Given the description of an element on the screen output the (x, y) to click on. 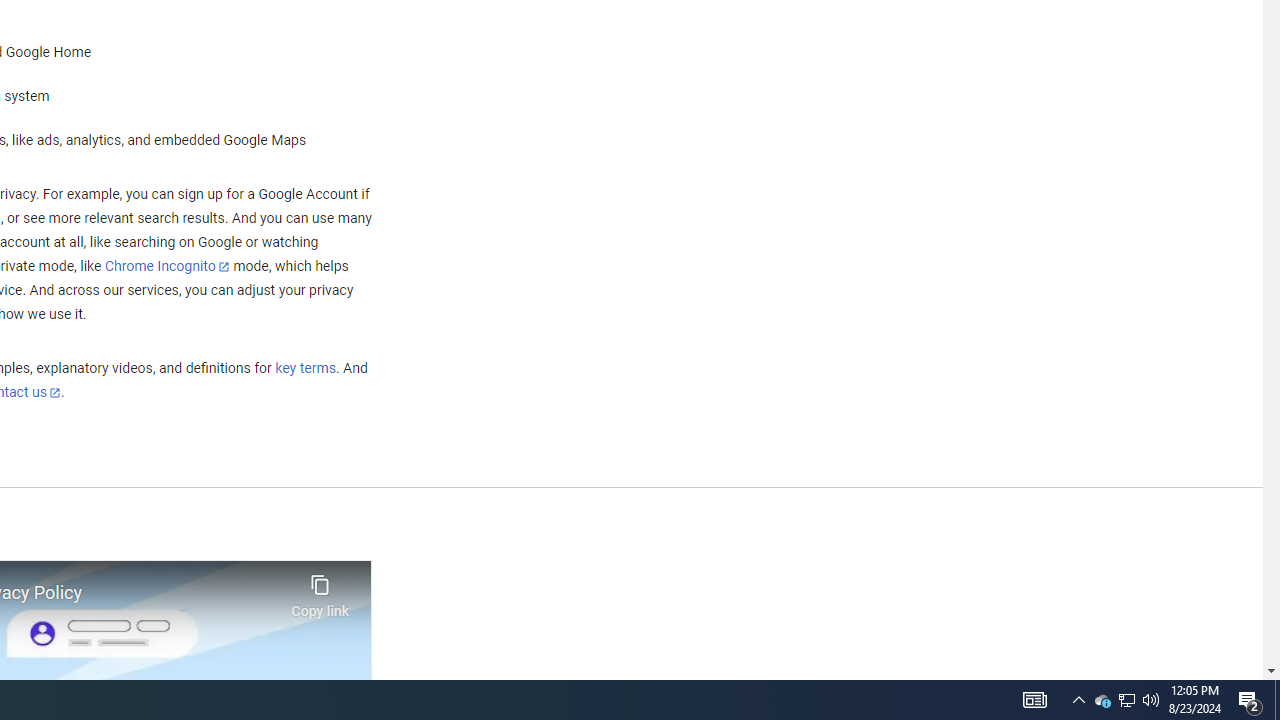
key terms (305, 369)
Chrome Incognito (166, 266)
Copy link (319, 591)
